Given the description of an element on the screen output the (x, y) to click on. 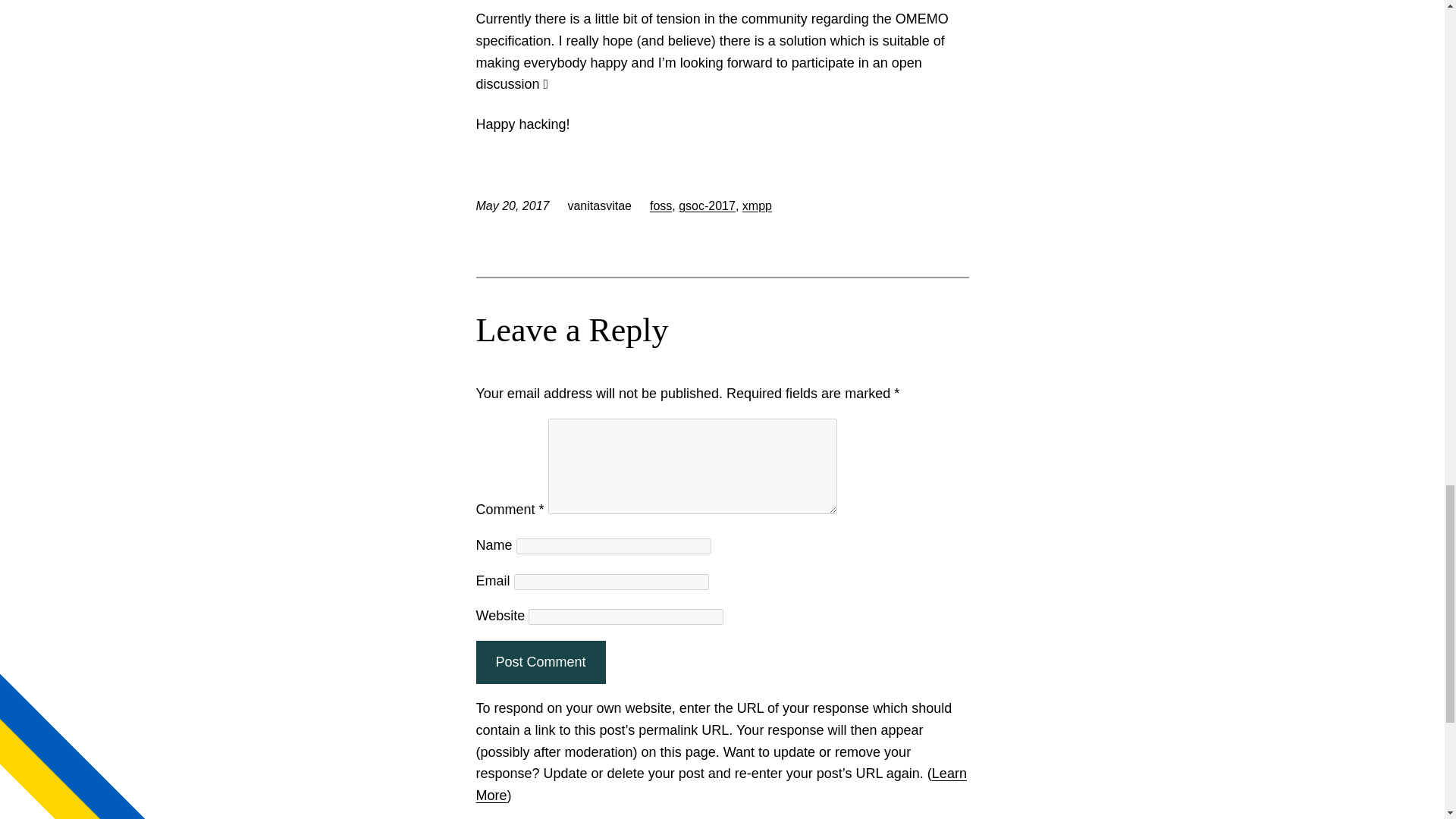
Post Comment (540, 661)
Post Comment (540, 661)
xmpp (756, 205)
foss (660, 205)
Learn More (721, 784)
gsoc-2017 (706, 205)
